Given the description of an element on the screen output the (x, y) to click on. 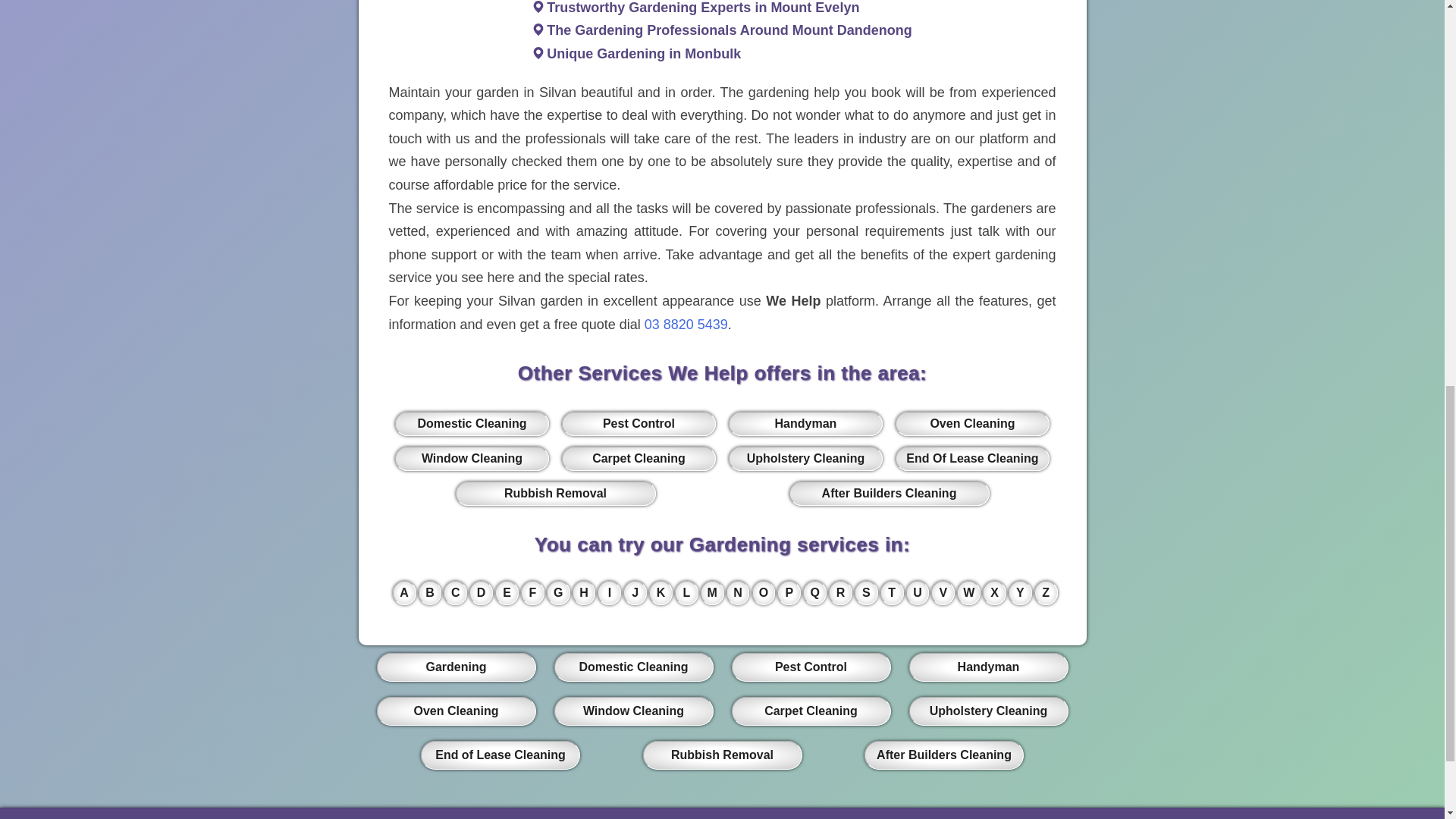
Pest Control Silvan 3795 (638, 423)
03 8820 5439 (686, 324)
End Of Lease Cleaning (971, 458)
Trustworthy Gardening Experts in Mount Evelyn (703, 7)
After Builders Cleaning Silvan 3795 (888, 493)
Unique Gardening in Monbulk (644, 53)
Rubbish Removal Silvan 3795 (554, 493)
End Of Lease Cleaning Silvan 3795 (971, 458)
Pest Control (638, 423)
Upholstery Cleaning (805, 458)
Window Cleaning (471, 458)
After Builders Cleaning (888, 493)
Oven Cleaning (971, 423)
Domestic Cleaning (471, 423)
Rubbish Removal (554, 493)
